Given the description of an element on the screen output the (x, y) to click on. 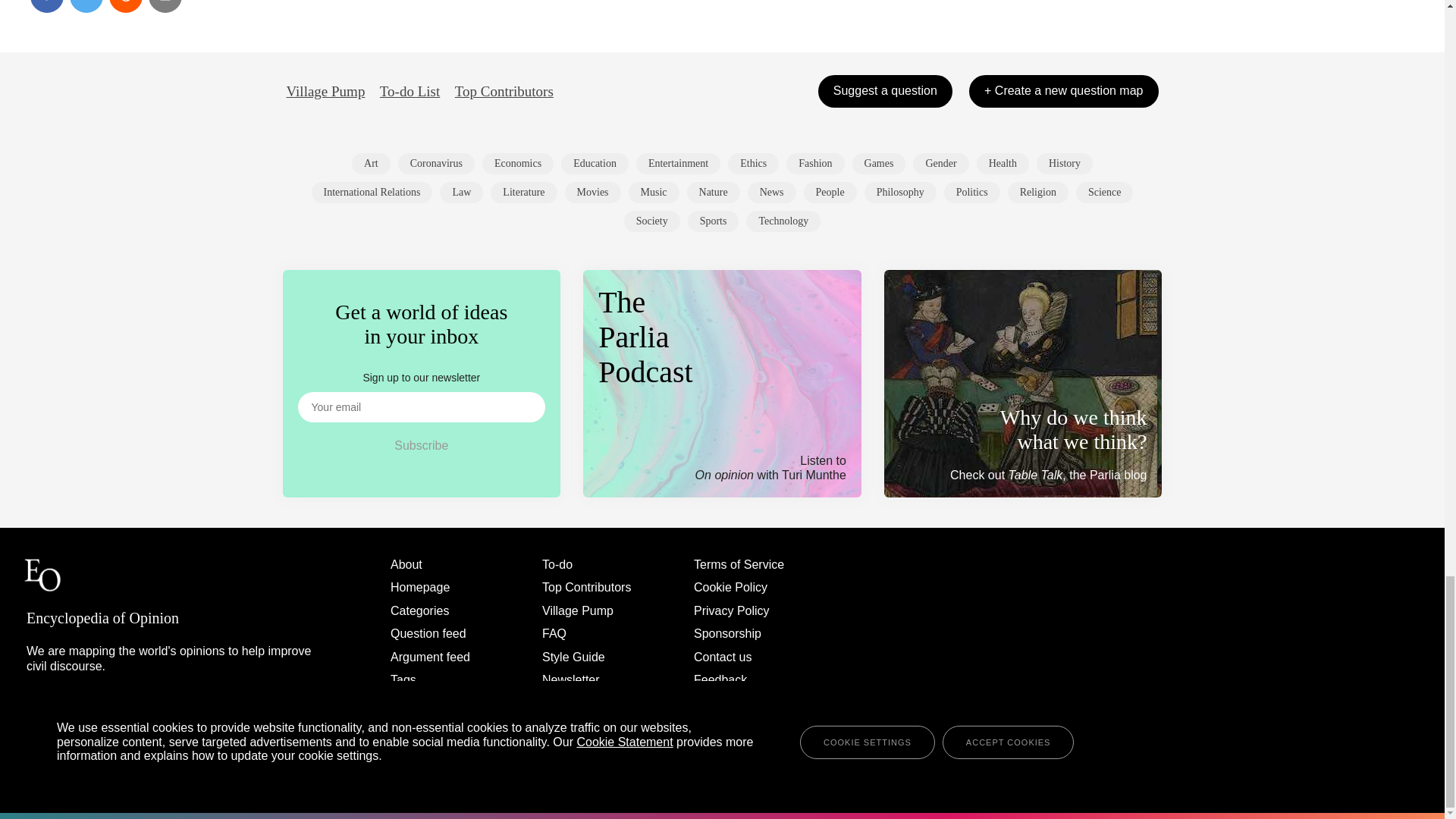
Category item (878, 163)
Category item (678, 163)
Category item (815, 163)
Category item (371, 163)
Category item (753, 163)
Category item (435, 163)
Category item (517, 163)
Category item (940, 163)
Category item (594, 163)
